Given the description of an element on the screen output the (x, y) to click on. 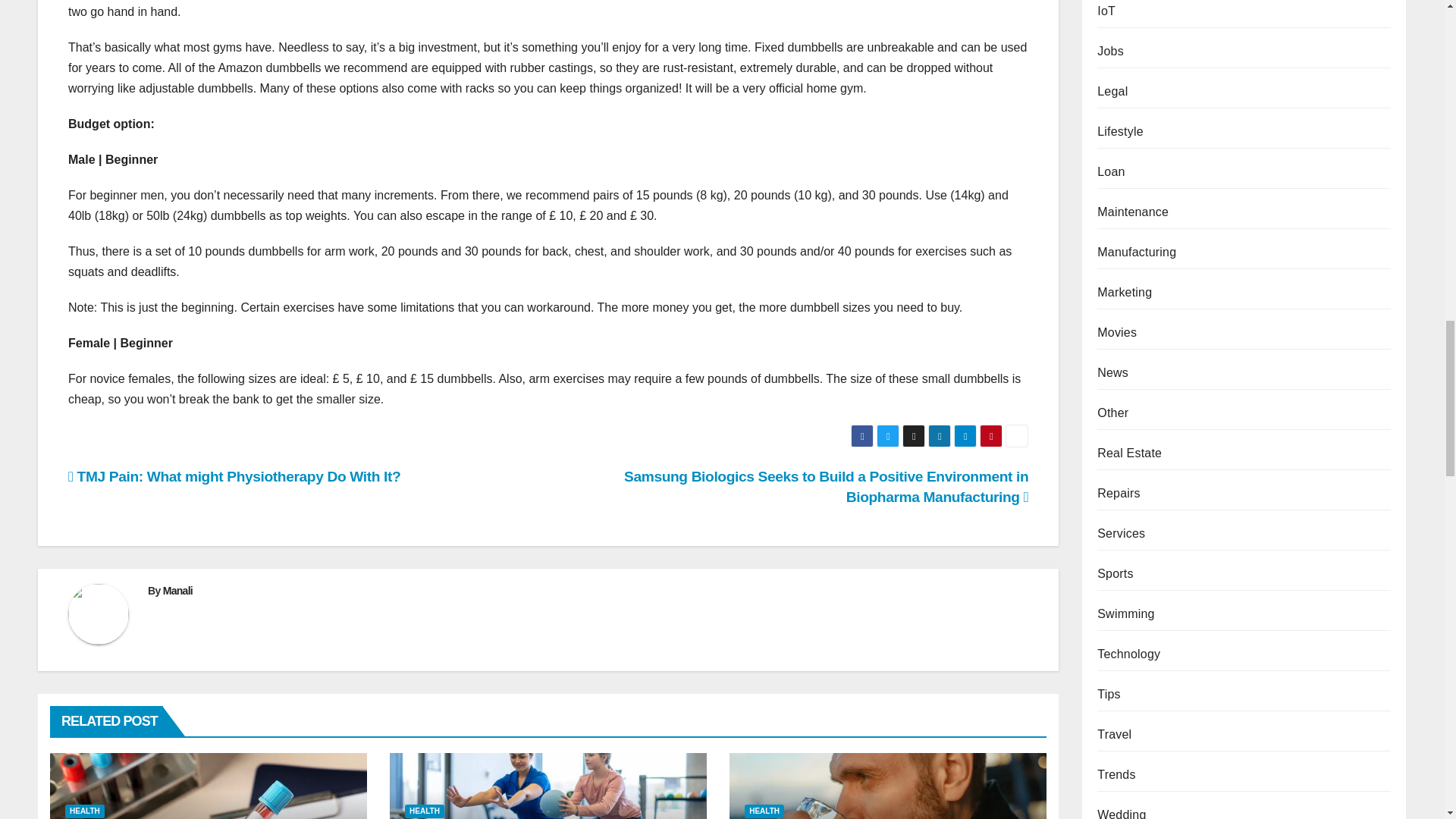
Manali (177, 590)
HEALTH (84, 811)
HEALTH (764, 811)
TMJ Pain: What might Physiotherapy Do With It? (234, 476)
HEALTH (424, 811)
